Given the description of an element on the screen output the (x, y) to click on. 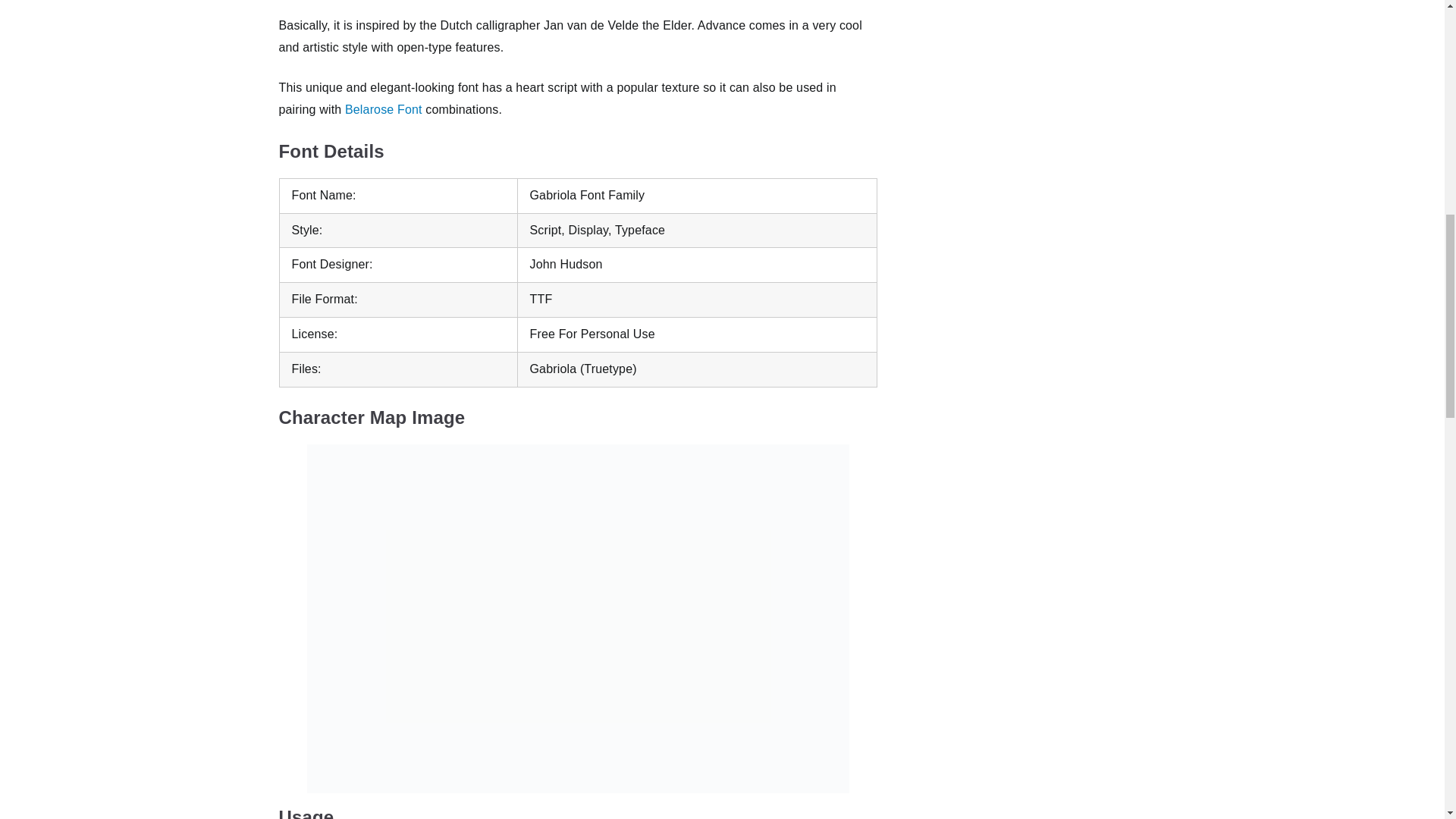
Belarose Font (383, 109)
